Given the description of an element on the screen output the (x, y) to click on. 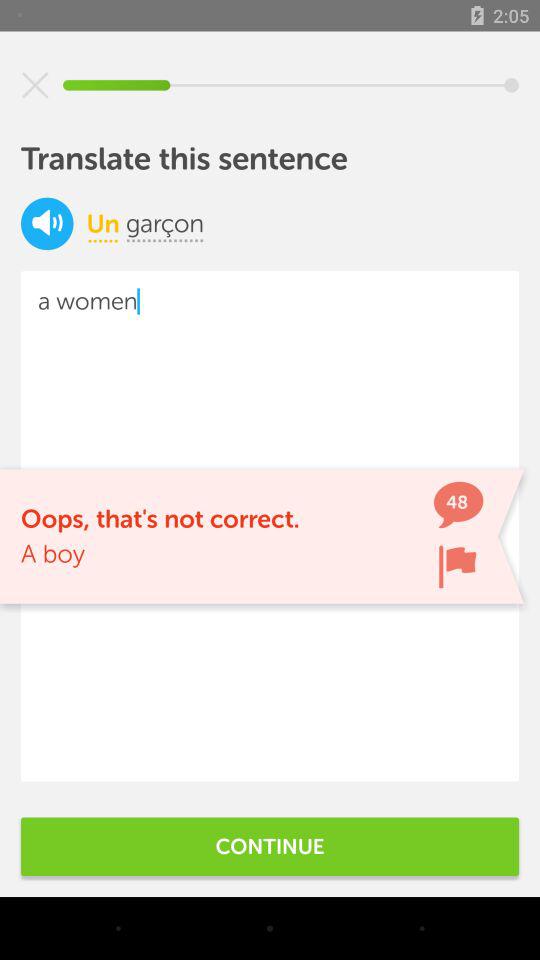
un garcon (47, 223)
